Given the description of an element on the screen output the (x, y) to click on. 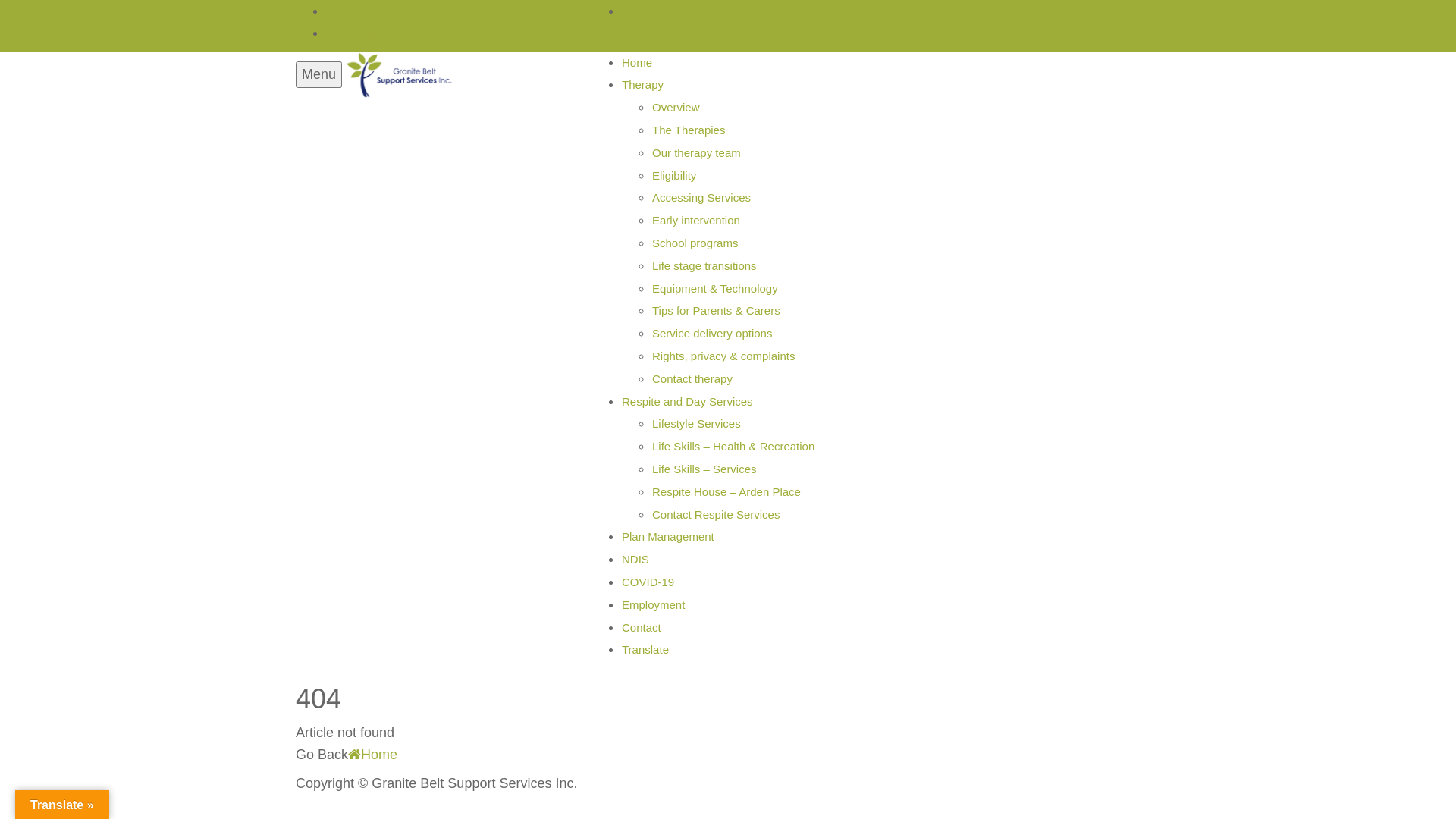
Eligibility Element type: text (674, 175)
The Therapies Element type: text (688, 129)
Contact Respite Services Element type: text (715, 514)
hello@gbss.org.au Element type: text (382, 32)
Life stage transitions Element type: text (704, 265)
NDIS Element type: text (635, 558)
Tips for Parents & Carers Element type: text (716, 310)
07 4681 3020 Element type: text (367, 10)
Lifestyle Services Element type: text (696, 423)
Employment Element type: text (652, 604)
Menu Element type: text (318, 74)
Early intervention Element type: text (696, 219)
Contact therapy Element type: text (692, 378)
Rights, privacy & complaints Element type: text (723, 355)
Home Element type: text (372, 753)
Respite and Day Services Element type: text (687, 401)
Overview Element type: text (675, 106)
School programs Element type: text (694, 242)
Our therapy team Element type: text (696, 152)
Plan Management Element type: text (667, 536)
Service delivery options Element type: text (711, 332)
Equipment & Technology Element type: text (715, 288)
Contact Element type: text (641, 627)
Translate Element type: text (644, 649)
Accessing Services Element type: text (701, 197)
Therapy Element type: text (642, 84)
Home Element type: text (636, 62)
Facebook Element type: hover (625, 10)
COVID-19 Element type: text (647, 581)
